Given the description of an element on the screen output the (x, y) to click on. 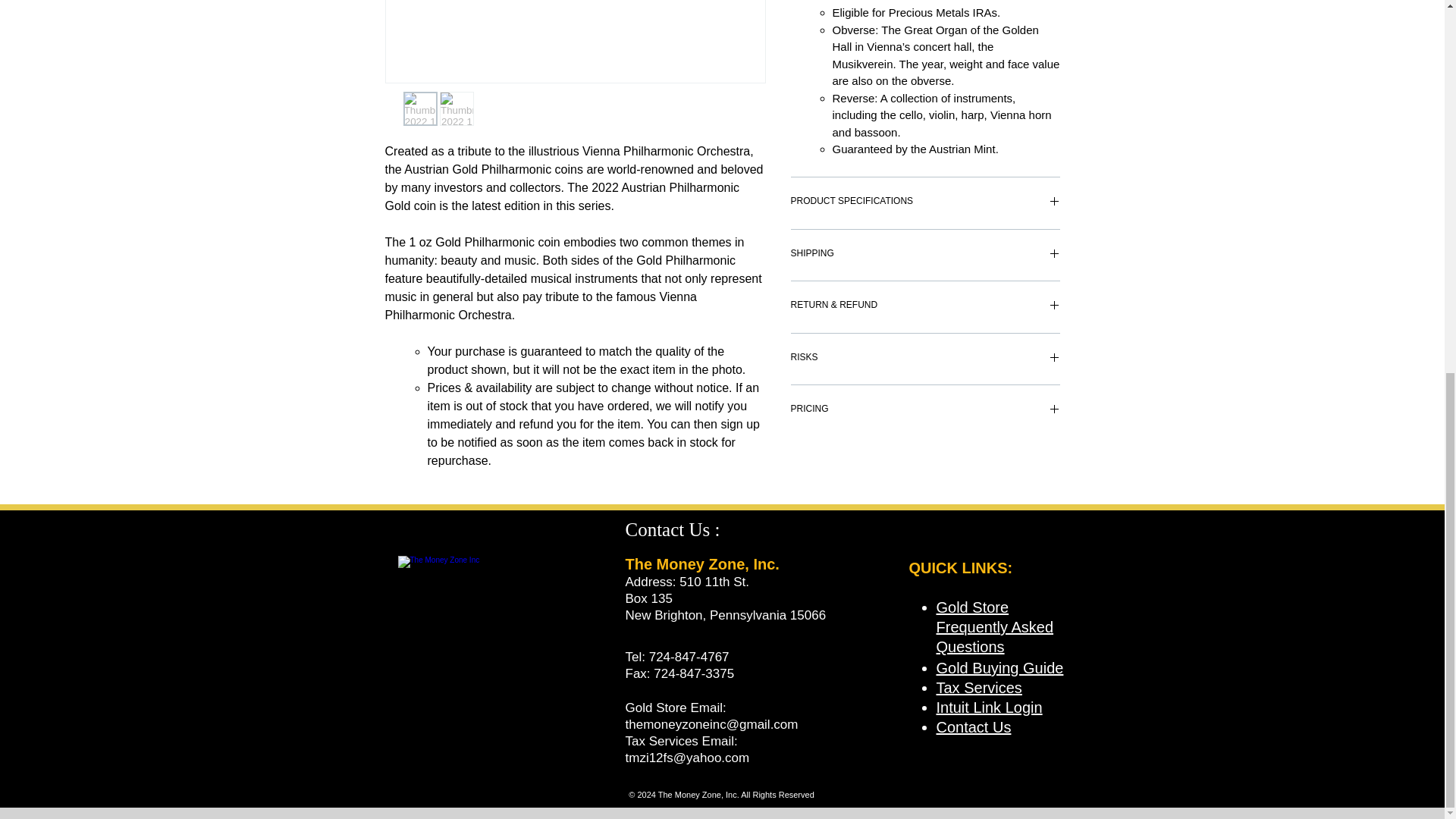
PRODUCT SPECIFICATIONS (924, 202)
PRICING (924, 410)
RISKS (924, 359)
Tax Services (979, 687)
Intuit Link Login (989, 707)
Gold Buying Guide (999, 668)
SHIPPING (924, 255)
Contact Us (973, 727)
Gold Store Frequently Asked Questions (994, 626)
